Given the description of an element on the screen output the (x, y) to click on. 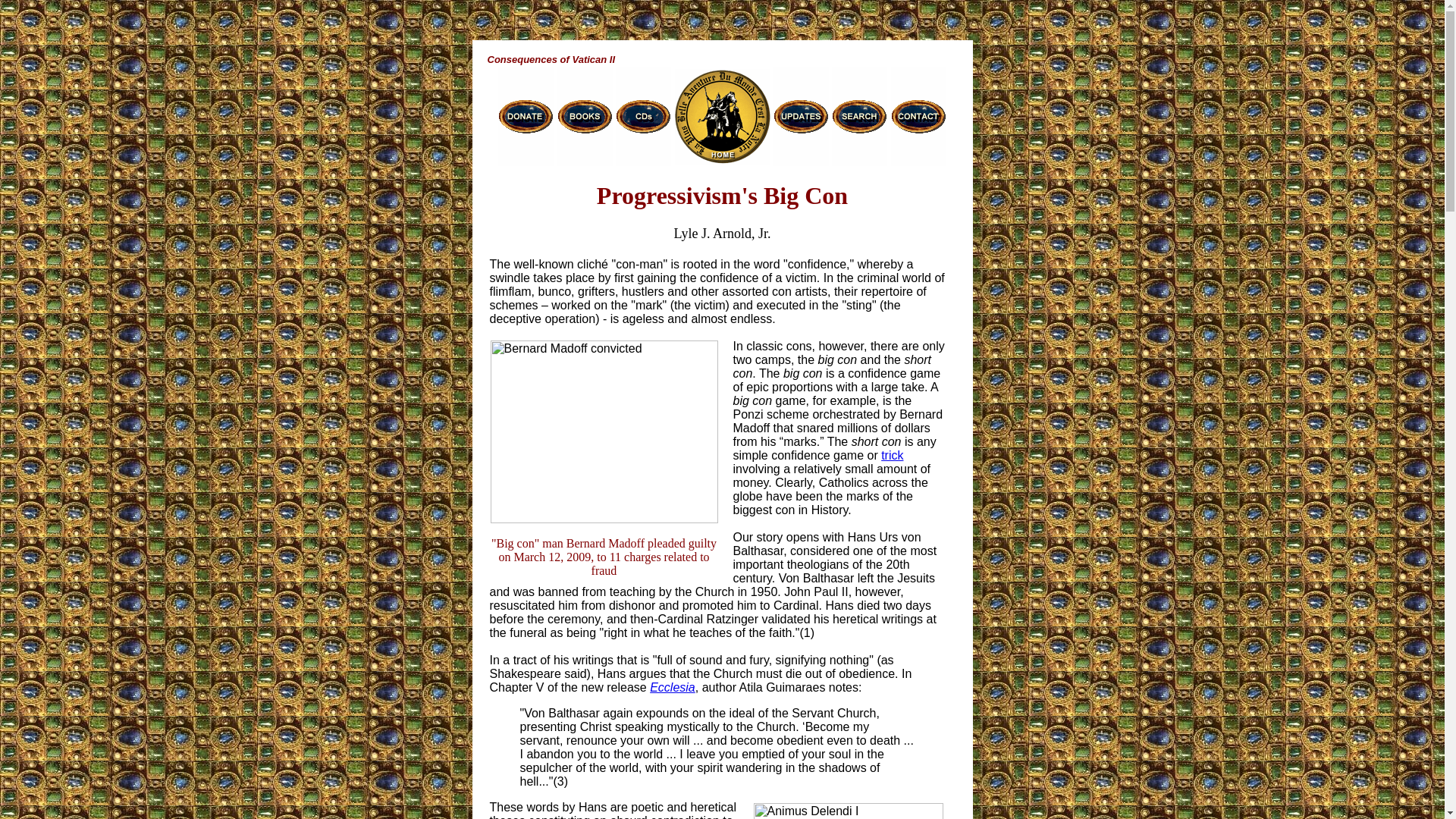
trick (891, 454)
Ecclesia (672, 686)
